Given the description of an element on the screen output the (x, y) to click on. 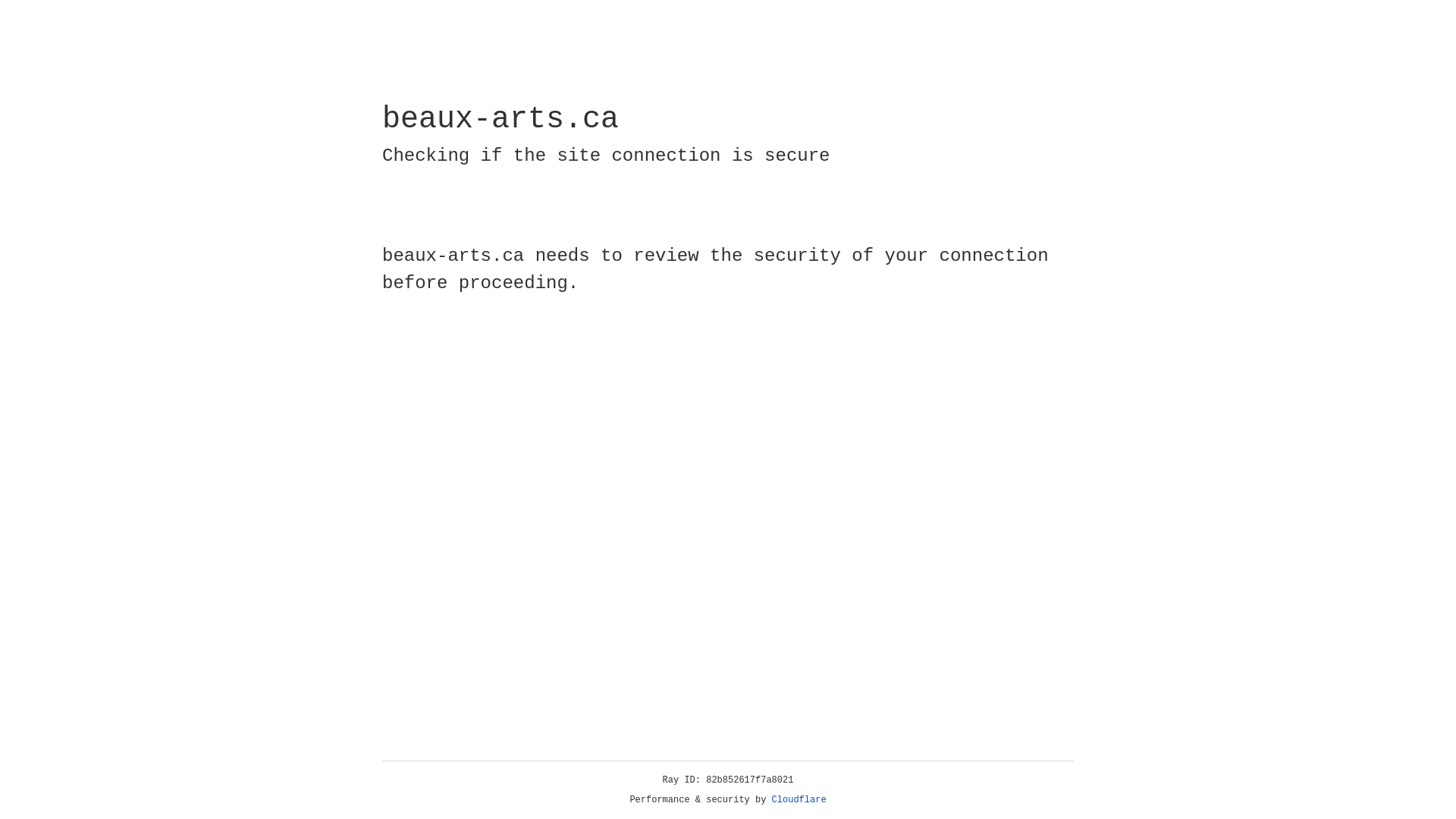
Cloudflare Element type: text (798, 799)
